Given the description of an element on the screen output the (x, y) to click on. 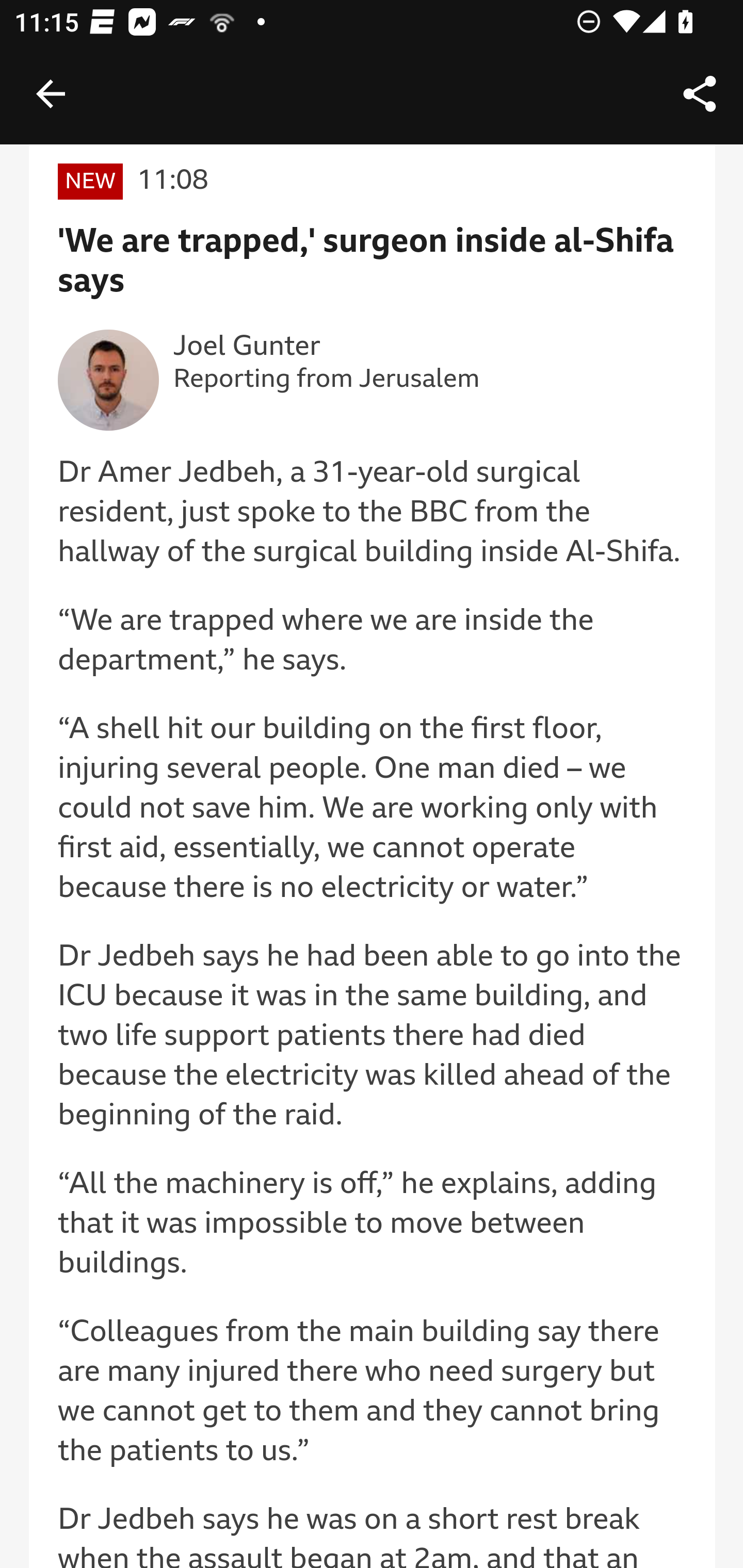
Back (50, 93)
Share (699, 93)
